Given the description of an element on the screen output the (x, y) to click on. 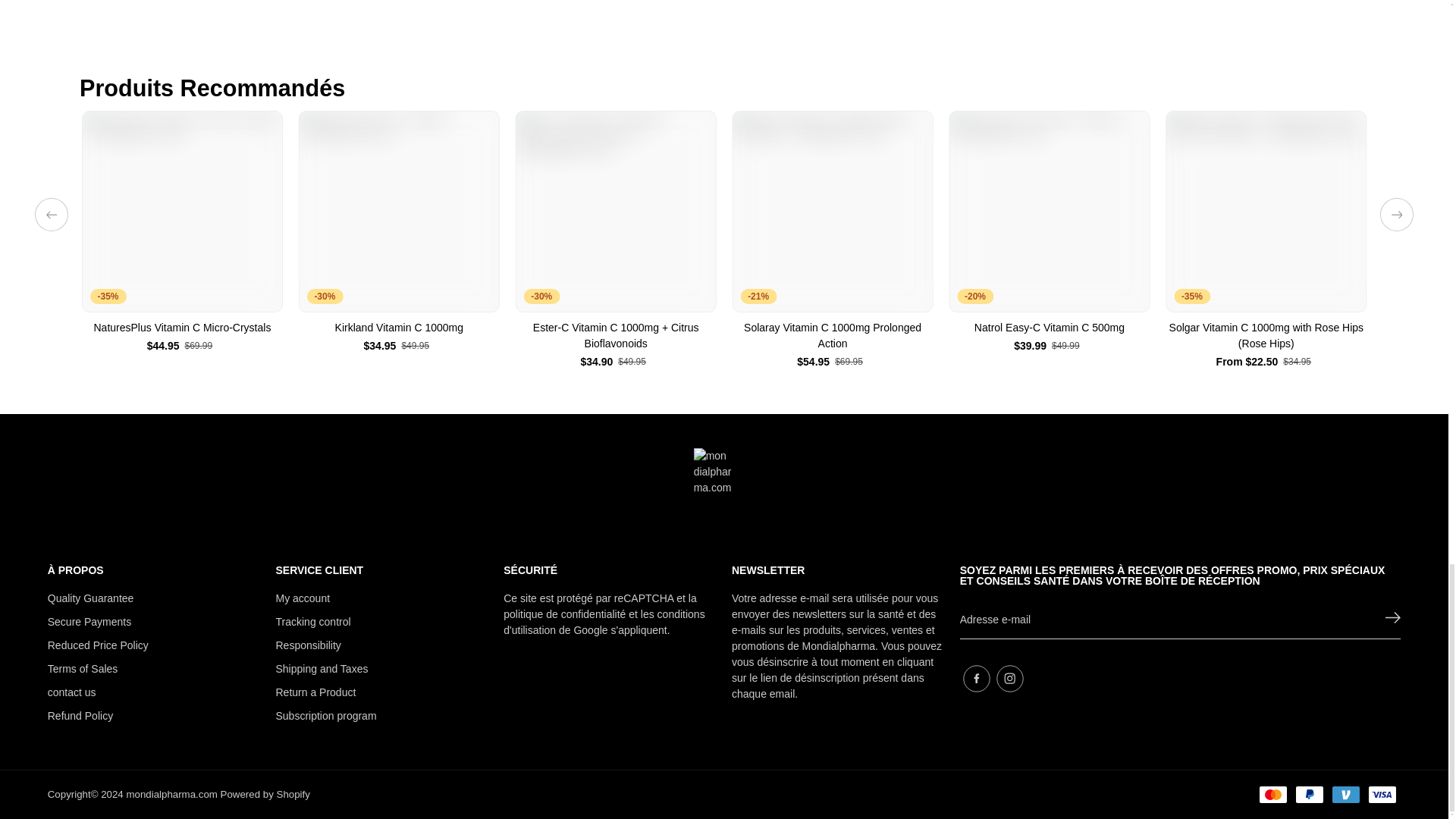
Venmo (1345, 794)
Natrol Easy-C Vitamin C 500mg (1049, 327)
Kirkland Vitamin C 1000mg (398, 211)
PayPal (1309, 794)
Kirkland Vitamin C 1000mg (398, 327)
Mastercard (1273, 794)
Natrol Easy-C Vitamin C 500mg (1049, 211)
NaturesPlus Vitamin C Micro-Crystals (181, 211)
NaturesPlus Vitamin C Micro-Crystals (182, 327)
Solaray Vitamin C 1000mg Prolonged Action (832, 211)
